Given the description of an element on the screen output the (x, y) to click on. 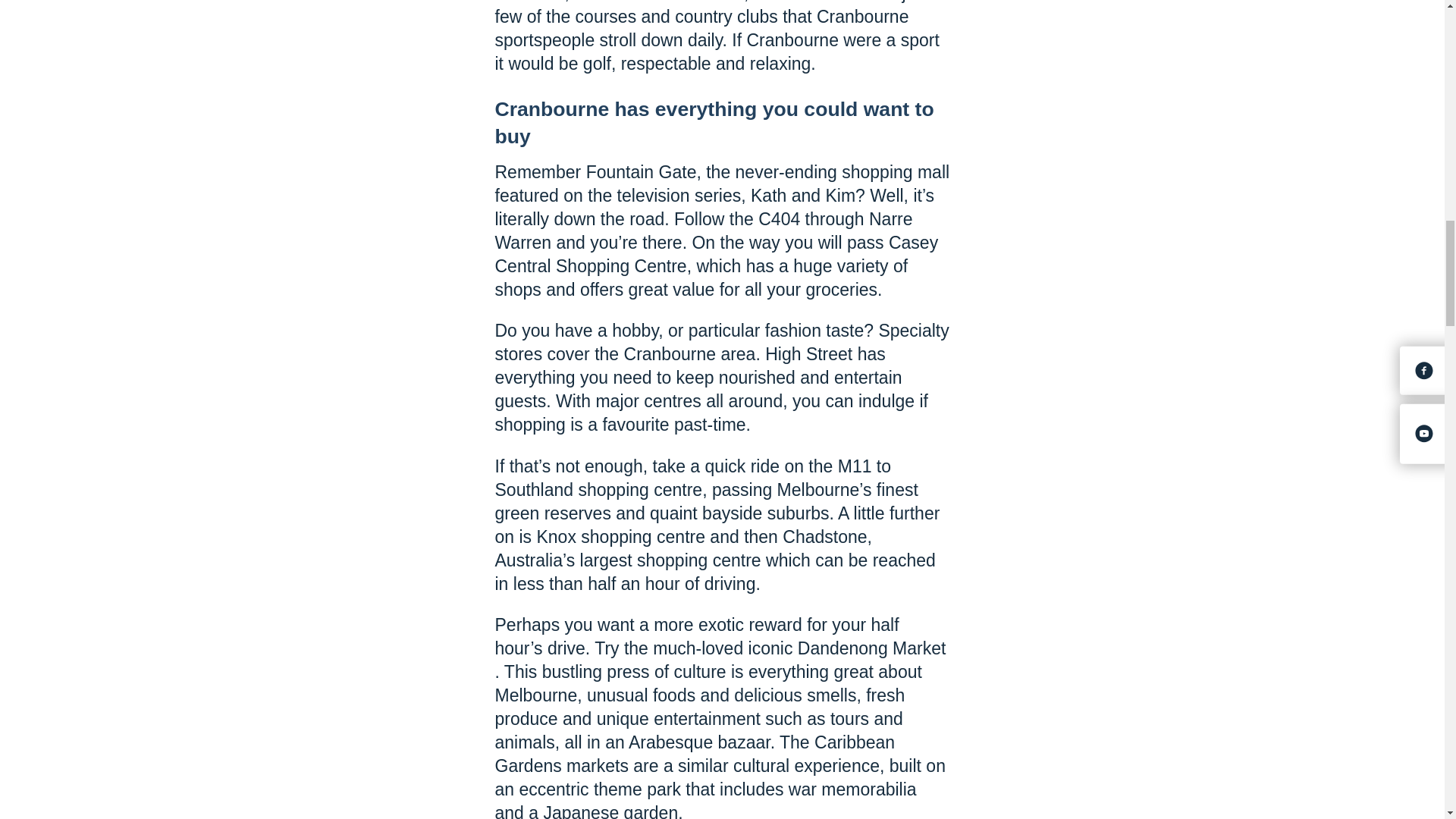
Ranfurlie (529, 1)
Sandhurst (827, 1)
Caribbean Gardens (695, 753)
Casey Central Shopping Centre (716, 254)
Cranbourne Golf Club (658, 1)
Southland shopping centre (598, 489)
Knox shopping centre (619, 537)
Dandenong Market (1023, 659)
Fountain Gate (641, 171)
Chadstone (824, 537)
